Given the description of an element on the screen output the (x, y) to click on. 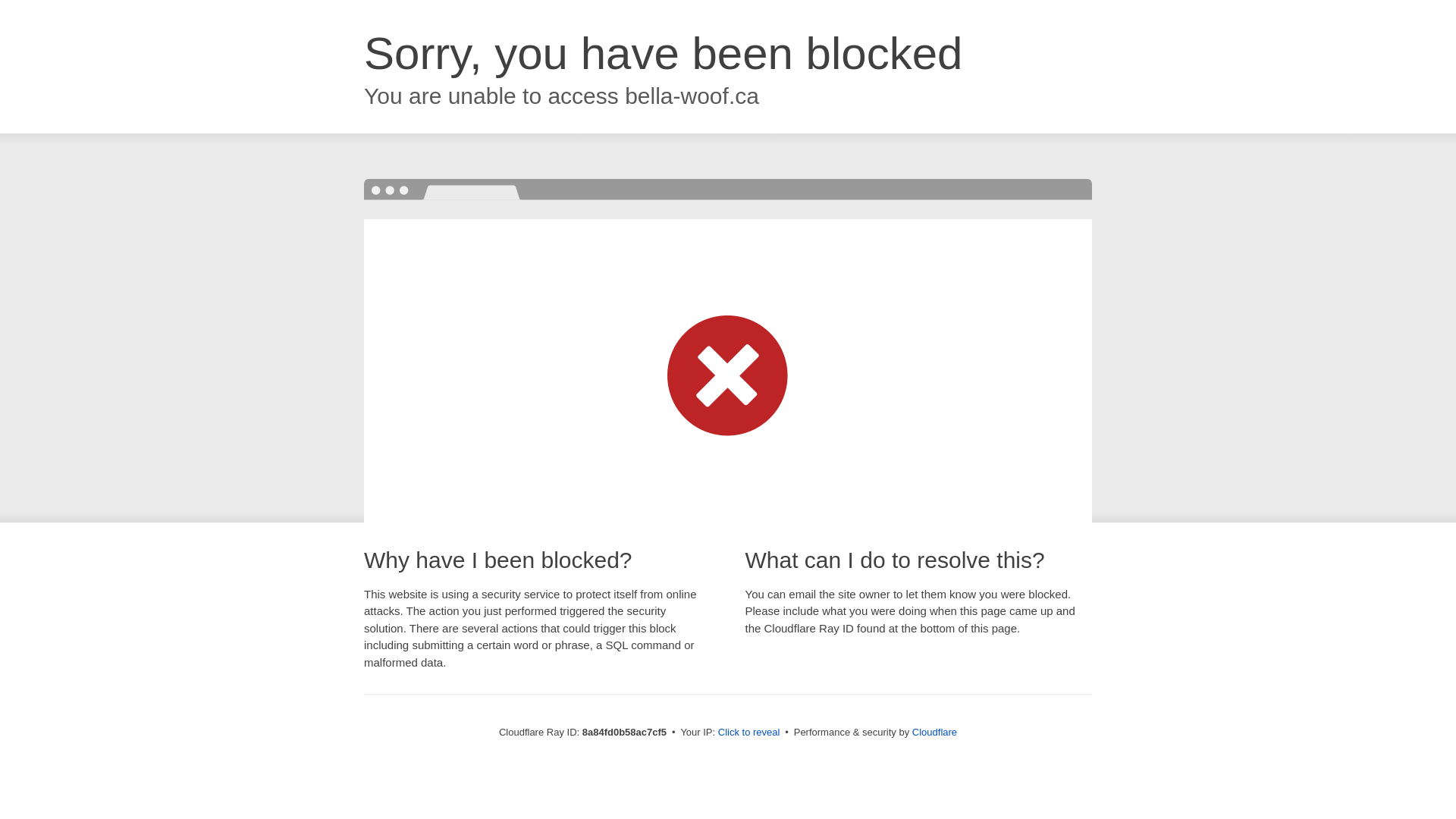
Cloudflare (934, 731)
Click to reveal (748, 732)
